Given the description of an element on the screen output the (x, y) to click on. 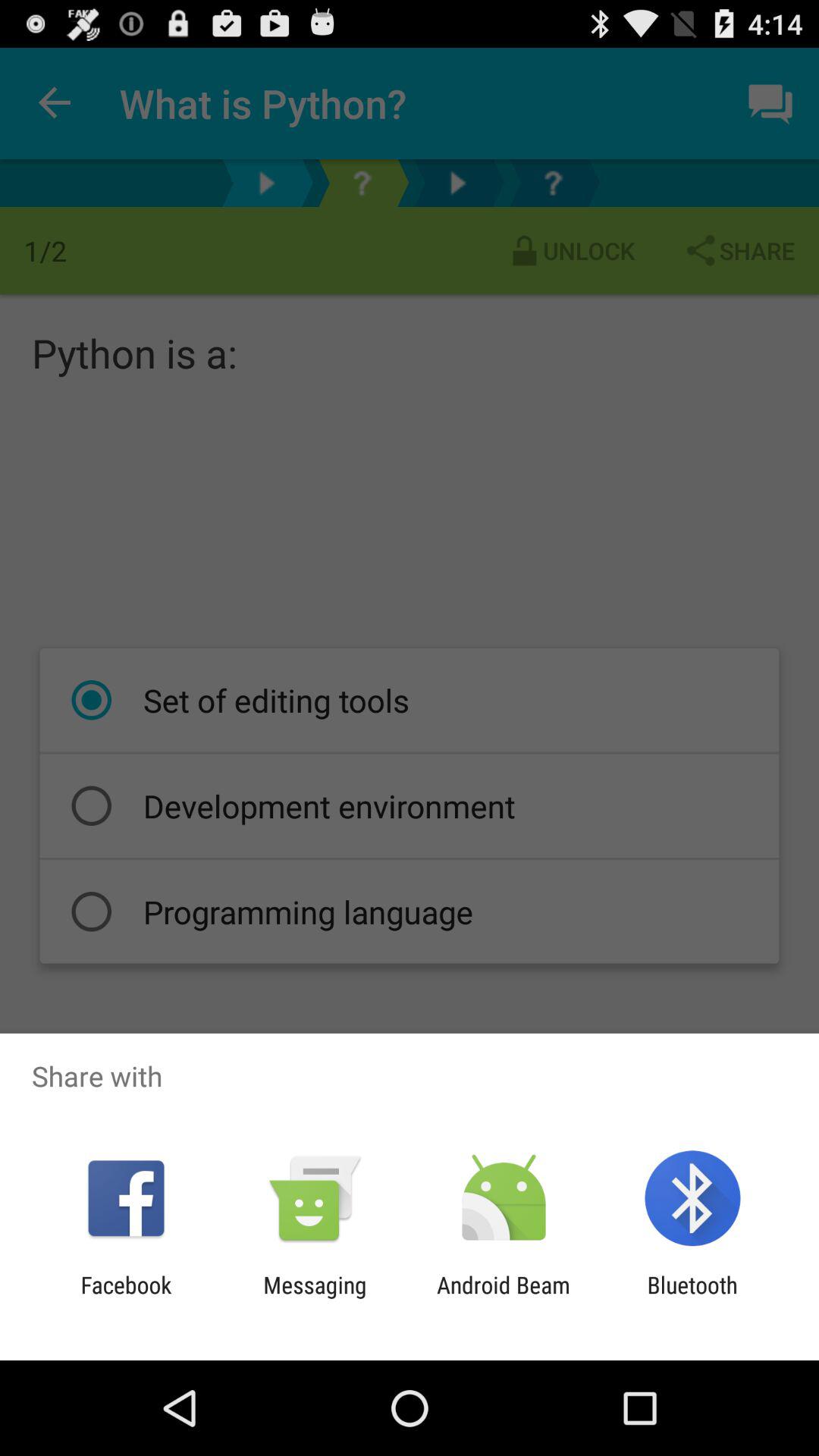
flip to the bluetooth app (692, 1298)
